Given the description of an element on the screen output the (x, y) to click on. 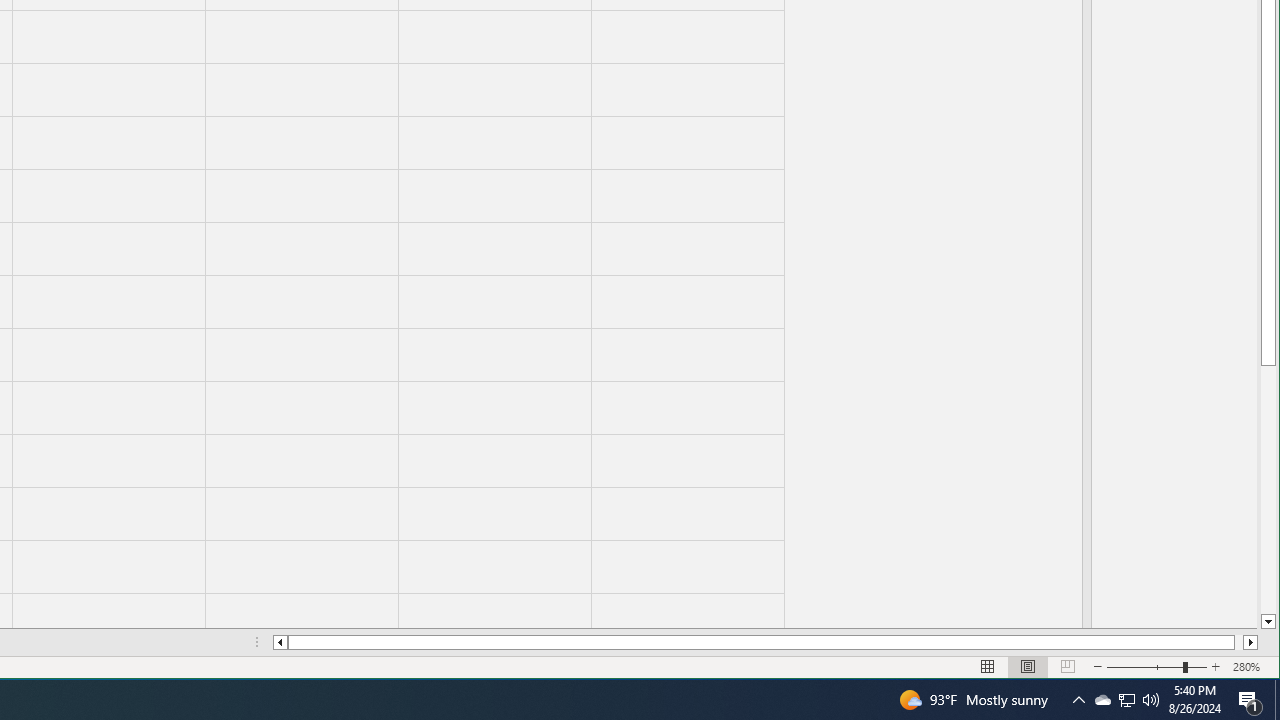
User Promoted Notification Area (1126, 699)
Action Center, 1 new notification (1126, 699)
Notification Chevron (1250, 699)
Q2790: 100% (1078, 699)
